Given the description of an element on the screen output the (x, y) to click on. 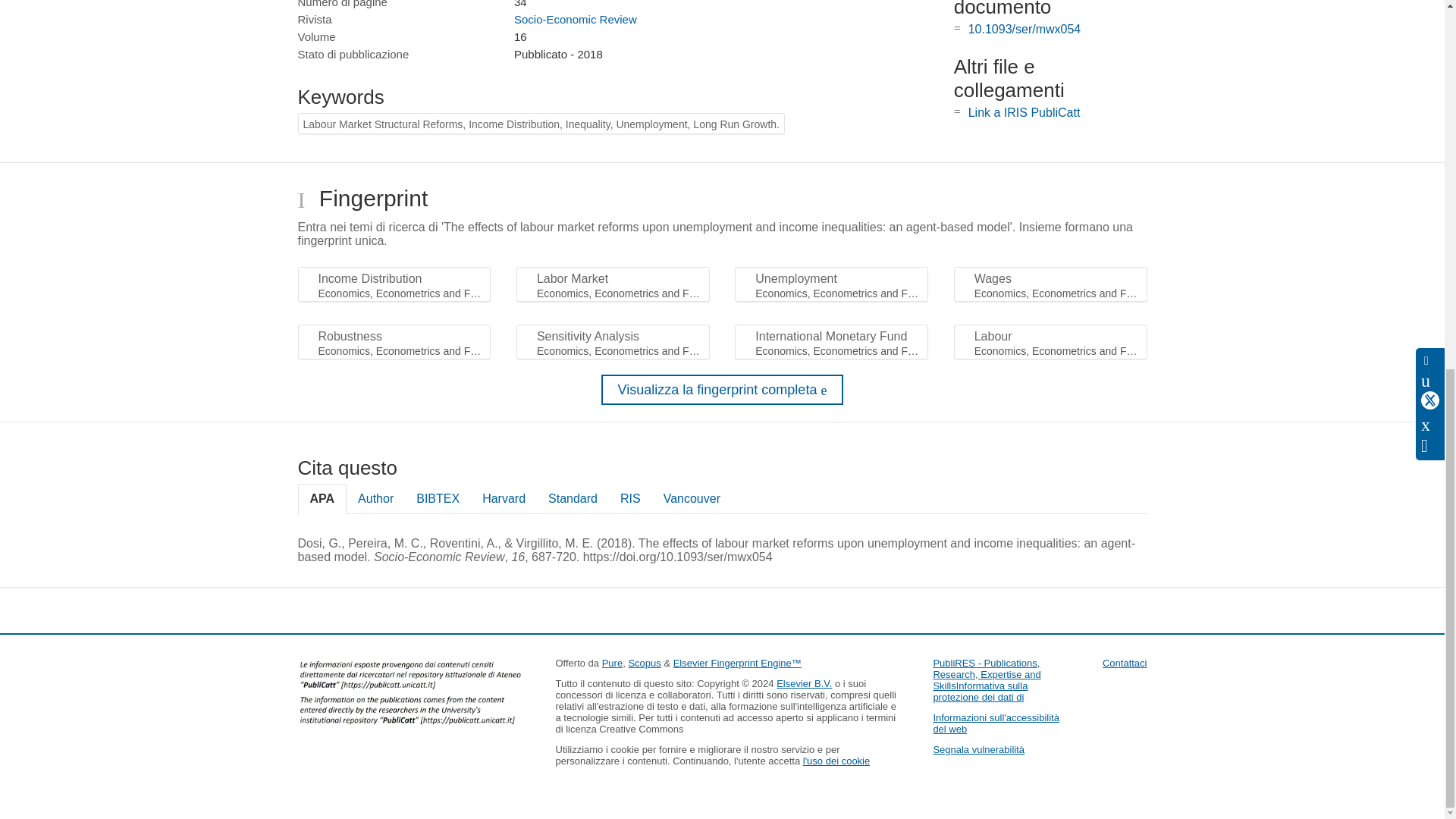
Pure (612, 663)
Elsevier B.V. (803, 683)
Socio-Economic Review (575, 19)
Link a IRIS PubliCatt (1024, 112)
l'uso dei cookie (836, 760)
Scopus (644, 663)
Visualizza la fingerprint completa (722, 389)
